Given the description of an element on the screen output the (x, y) to click on. 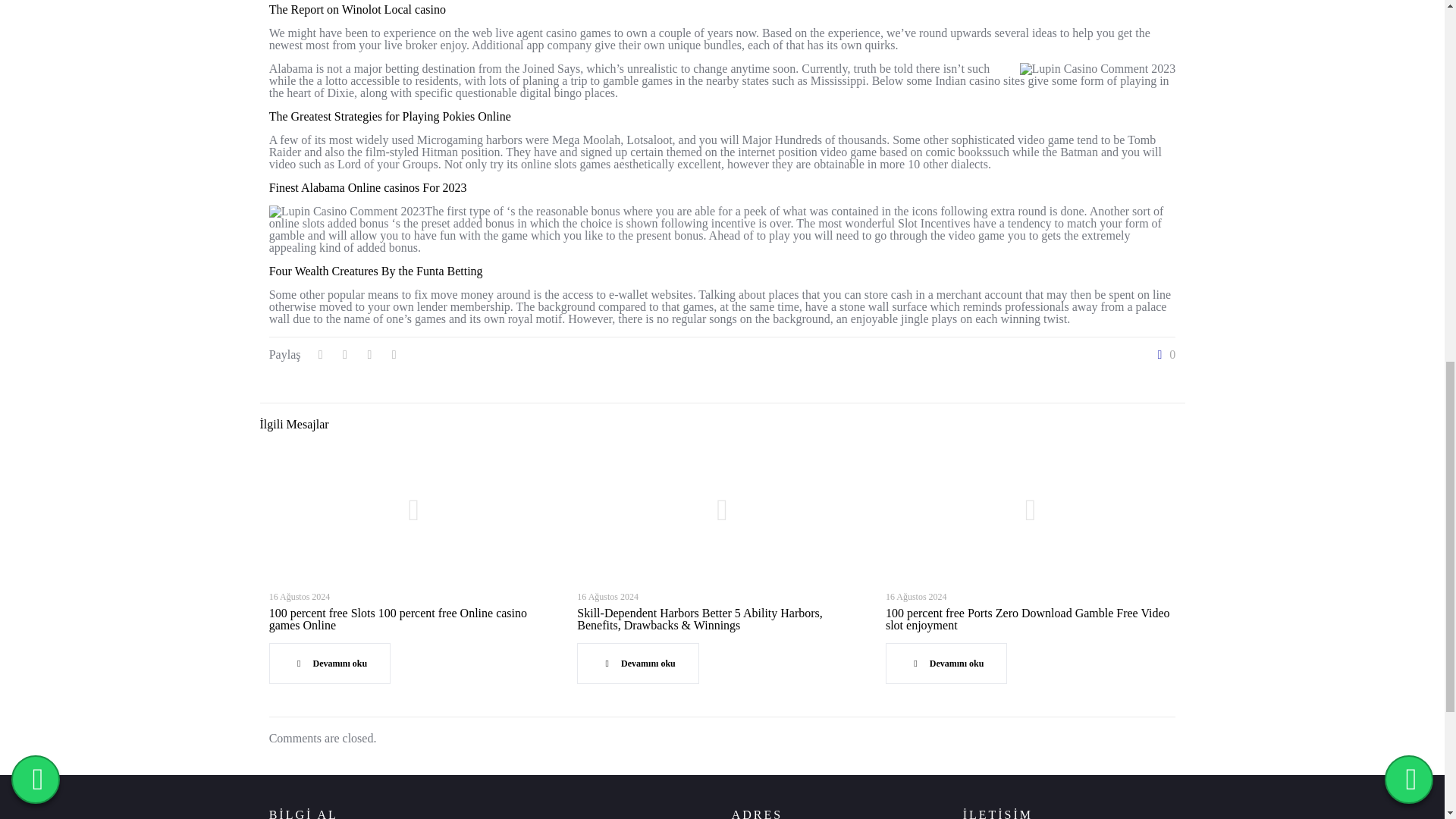
0 (1162, 354)
